Given the description of an element on the screen output the (x, y) to click on. 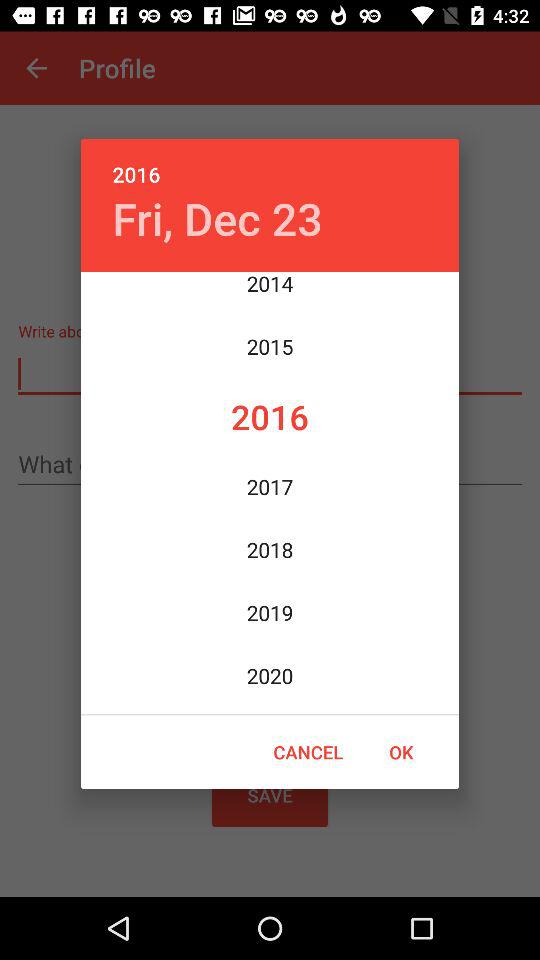
choose the ok icon (401, 751)
